Given the description of an element on the screen output the (x, y) to click on. 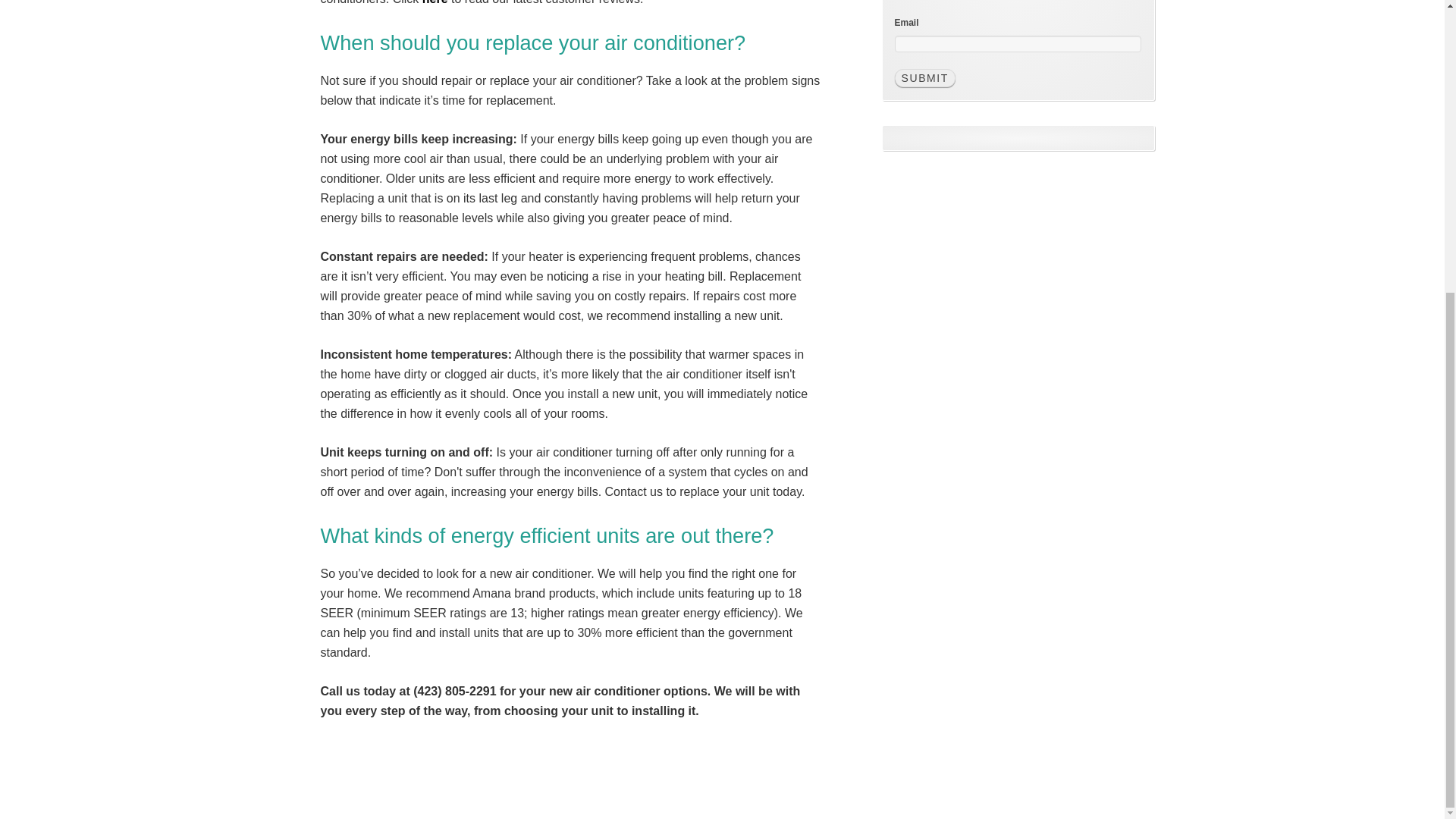
here (435, 2)
Submit (925, 77)
Submit (925, 77)
